Given the description of an element on the screen output the (x, y) to click on. 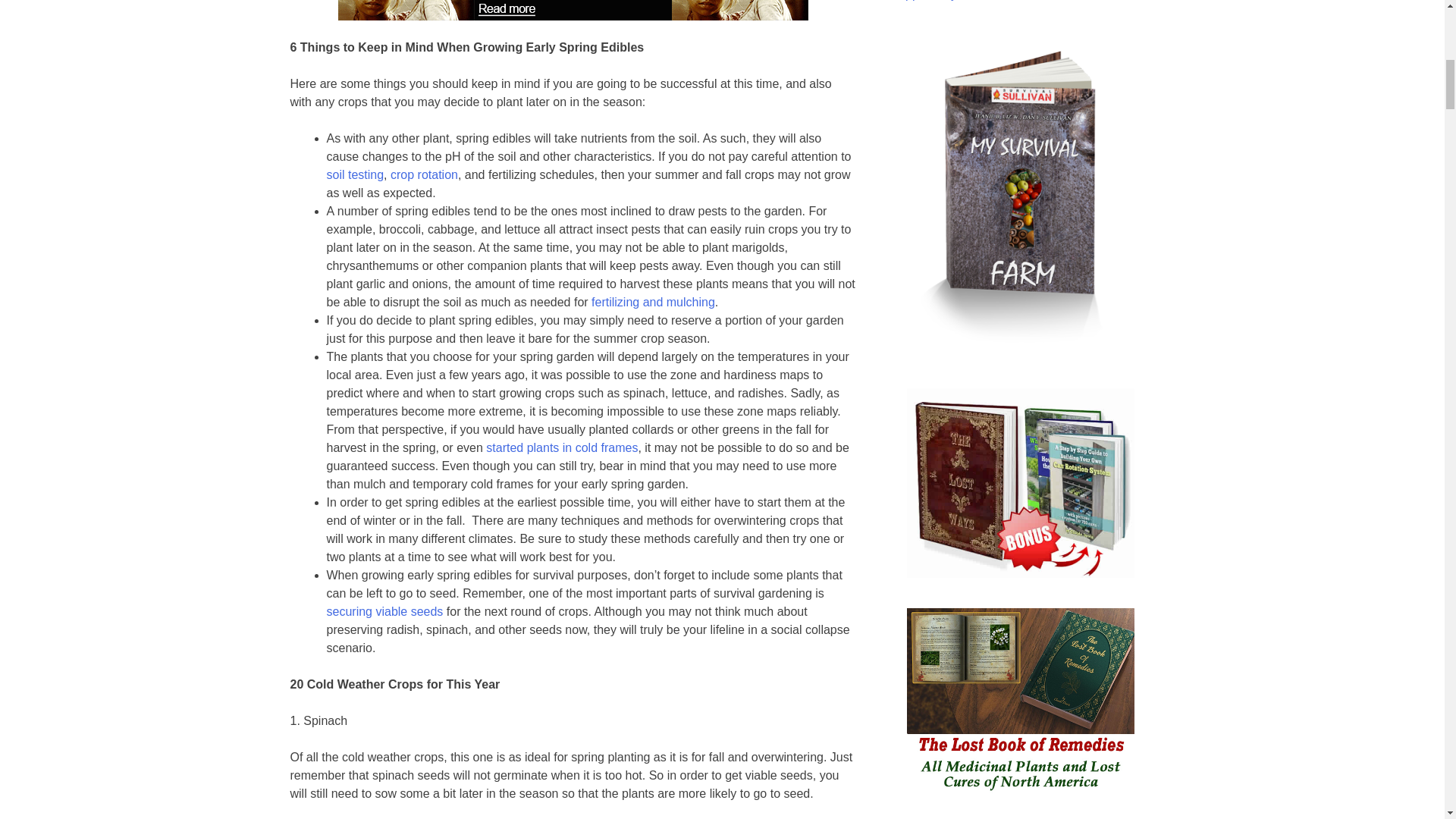
started plants in cold frames (561, 447)
securing viable seeds (384, 611)
fertilizing and mulching (652, 301)
crop rotation (424, 174)
soil testing (355, 174)
